Given the description of an element on the screen output the (x, y) to click on. 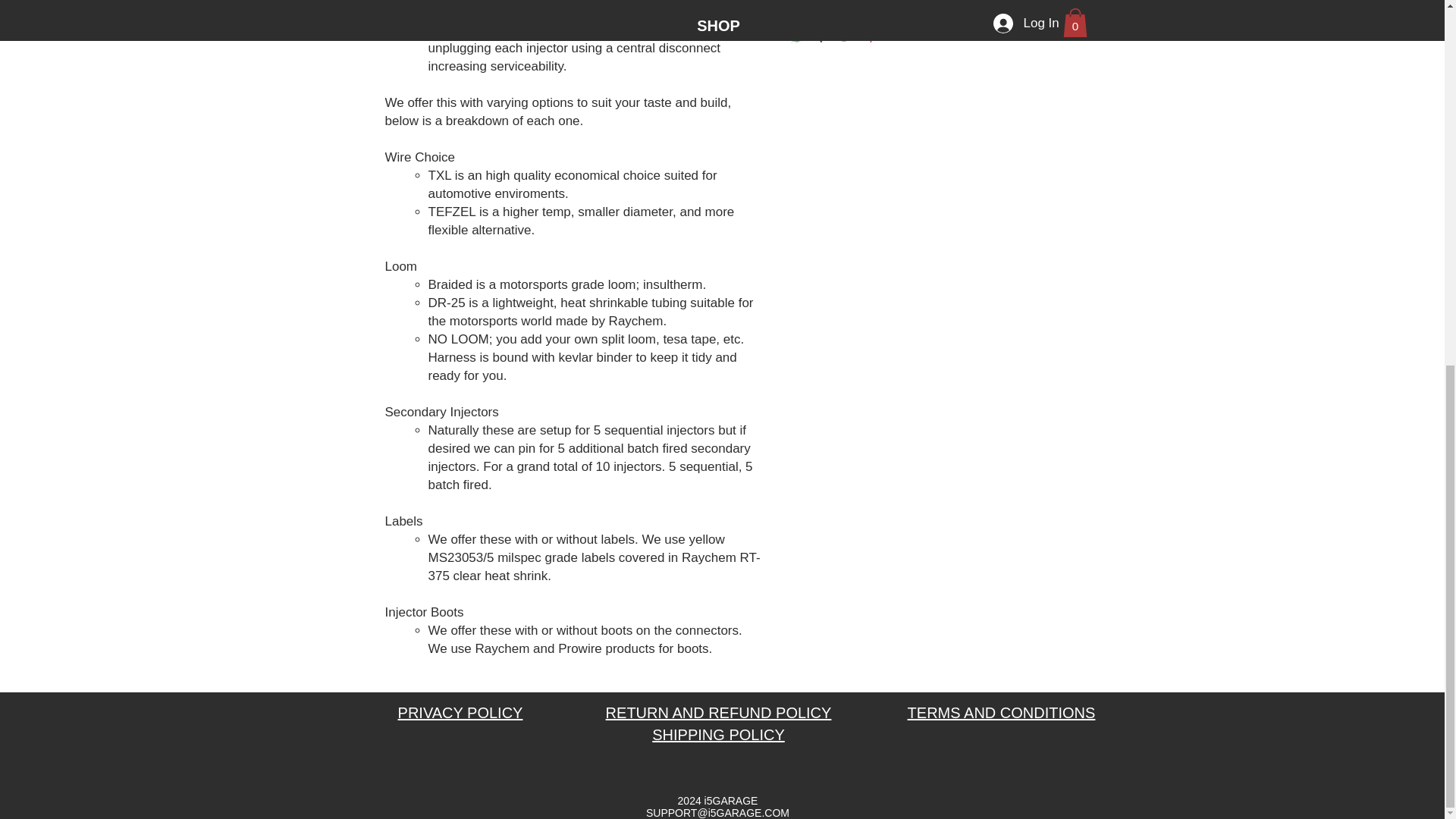
SHIPPING POLICY (718, 734)
PRIVACY POLICY (459, 712)
RETURN AND REFUND POLICY (718, 712)
TERMS AND CONDITIONS (1001, 712)
